Given the description of an element on the screen output the (x, y) to click on. 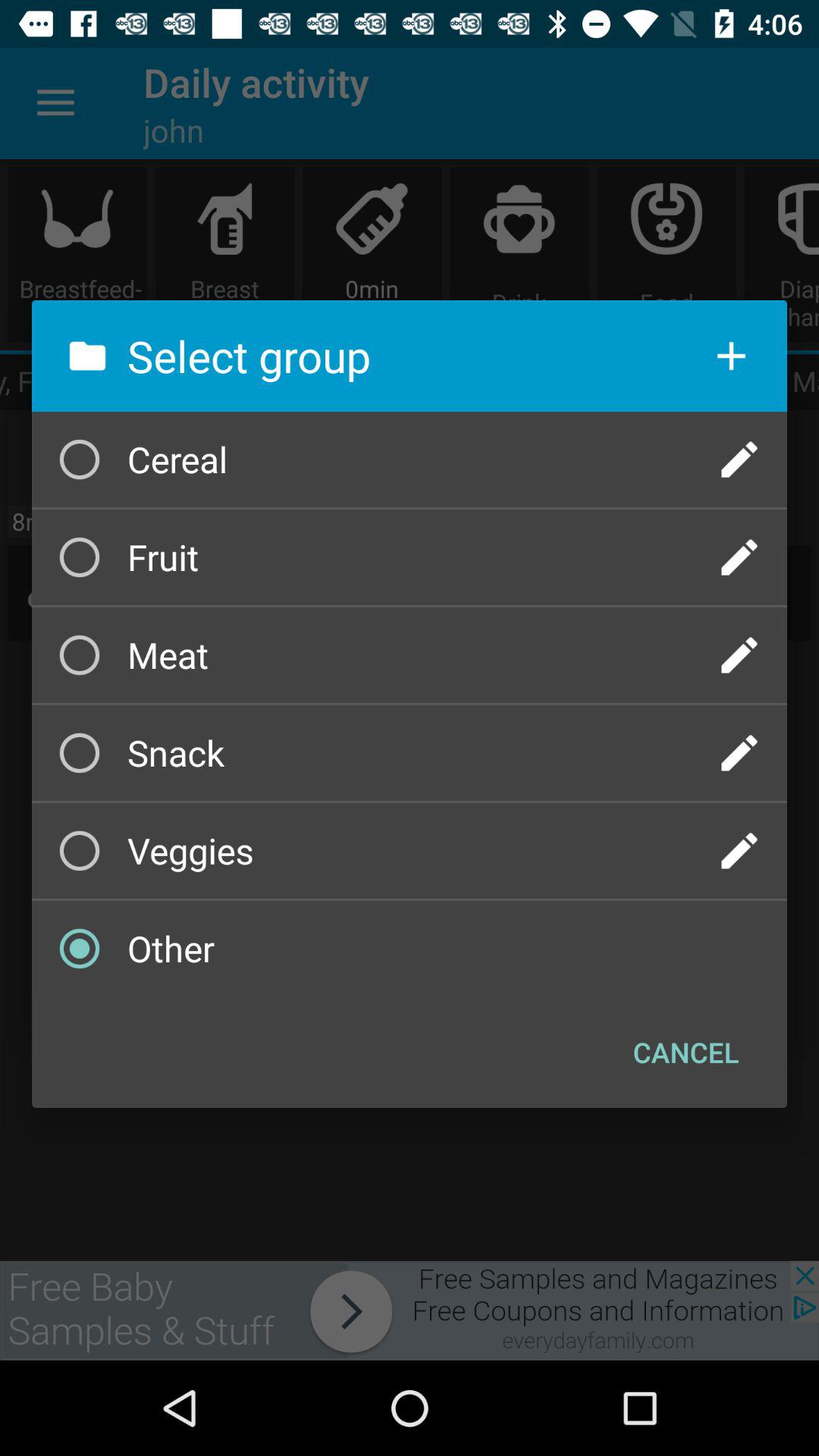
log what meat is eaten (739, 654)
